Given the description of an element on the screen output the (x, y) to click on. 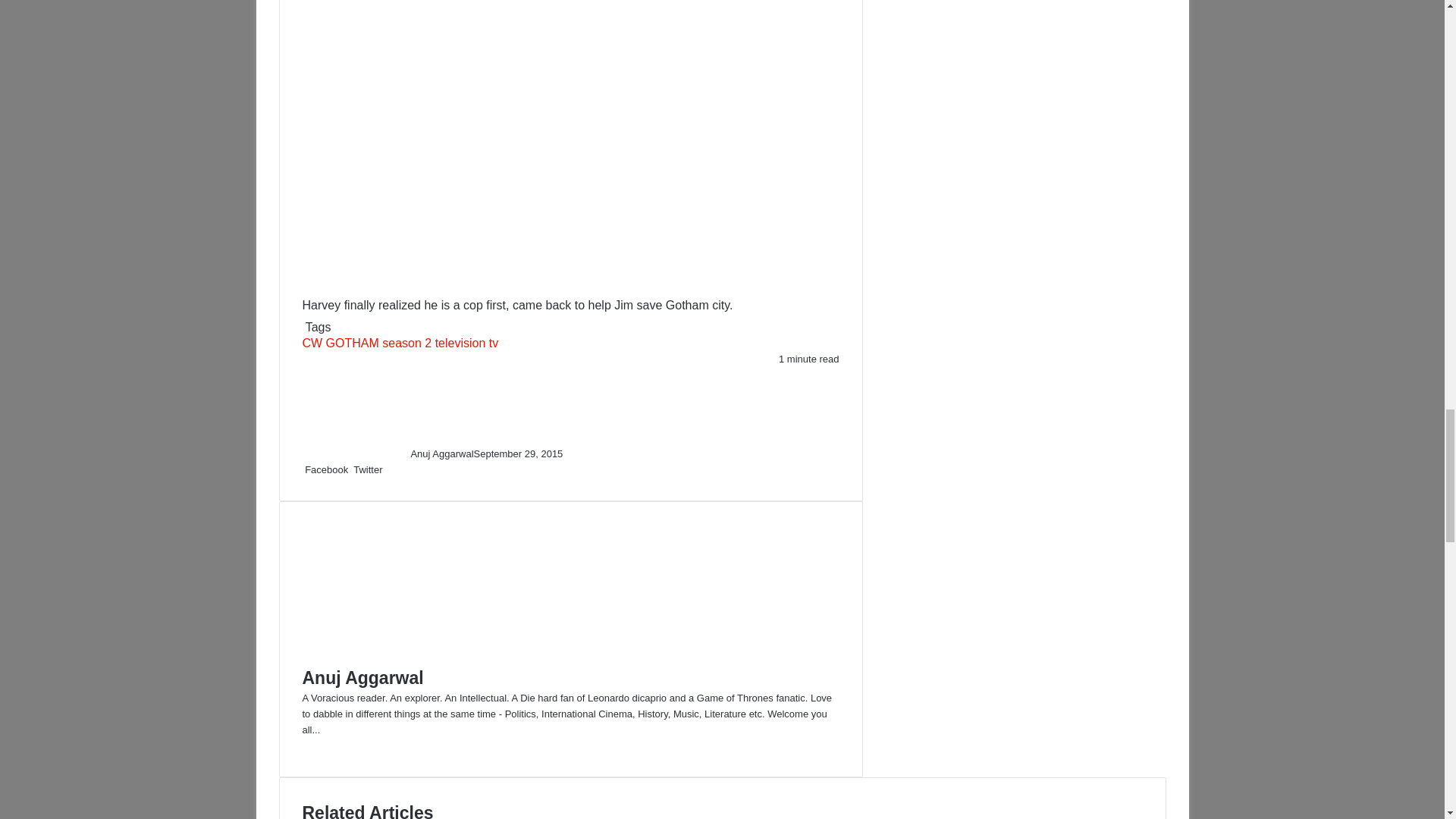
Anuj Aggarwal (441, 453)
Facebook (325, 469)
Anuj Aggarwal (441, 453)
Twitter (367, 469)
television (460, 342)
season 2 (405, 342)
CW (311, 342)
Facebook (325, 469)
Twitter (367, 469)
GOTHAM (352, 342)
